Given the description of an element on the screen output the (x, y) to click on. 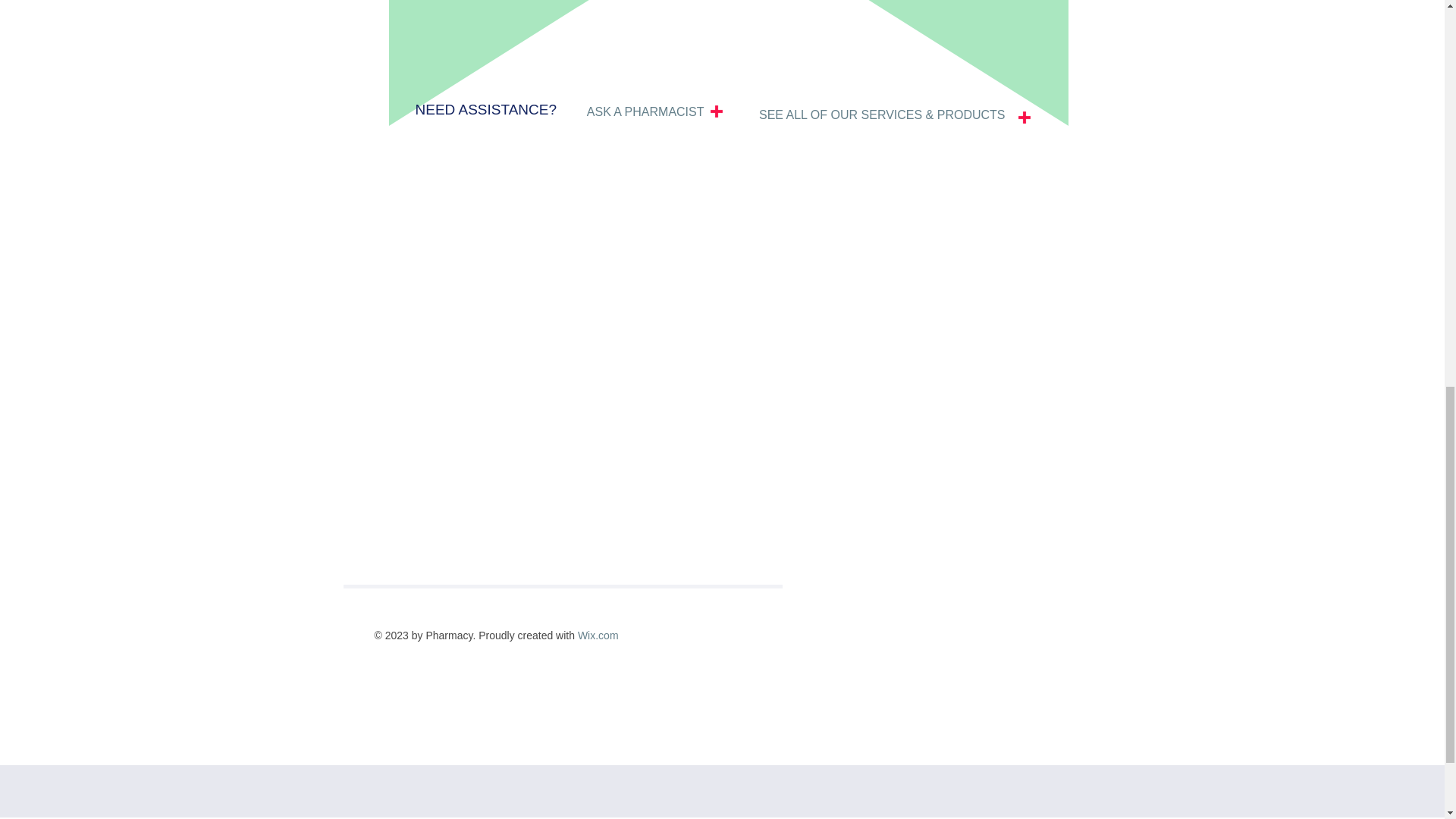
ASK A PHARMACIST (644, 111)
Wix.com (598, 635)
